Given the description of an element on the screen output the (x, y) to click on. 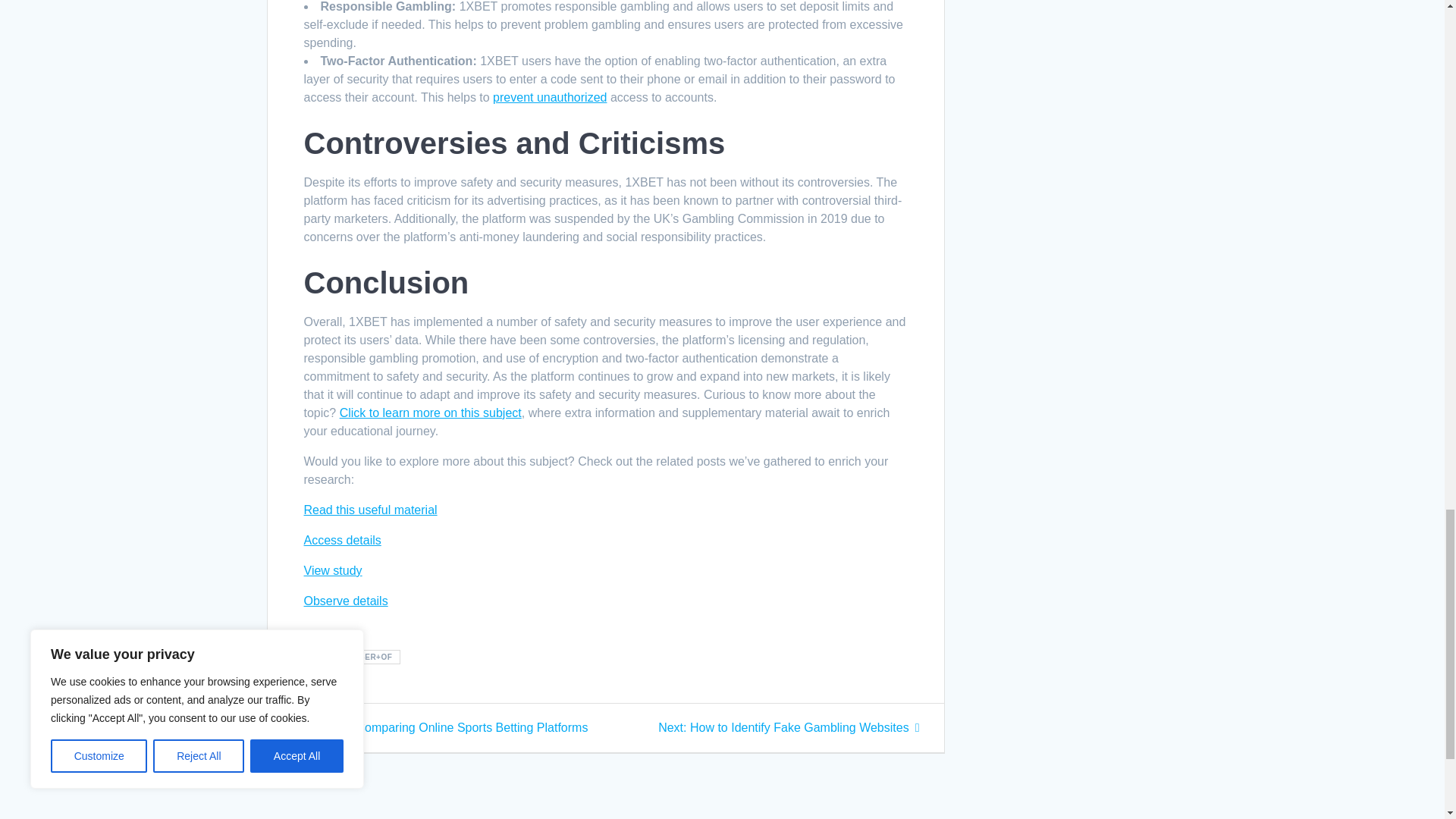
Click to learn more on this subject (788, 727)
Read this useful material (430, 412)
Access details (369, 509)
Observe details (341, 540)
prevent unauthorized (344, 600)
View study (550, 97)
